Given the description of an element on the screen output the (x, y) to click on. 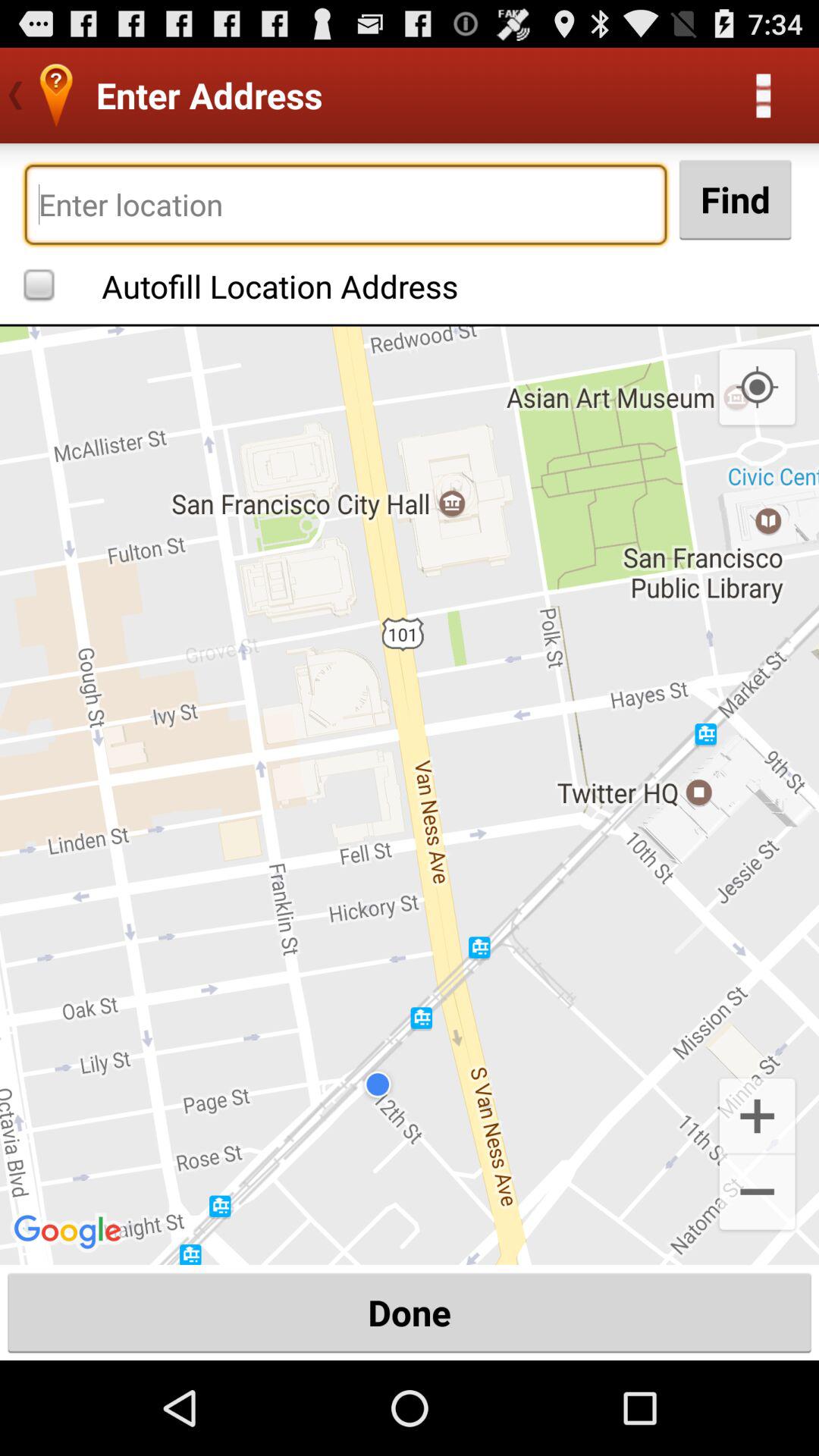
flip until autofill location address icon (244, 284)
